Given the description of an element on the screen output the (x, y) to click on. 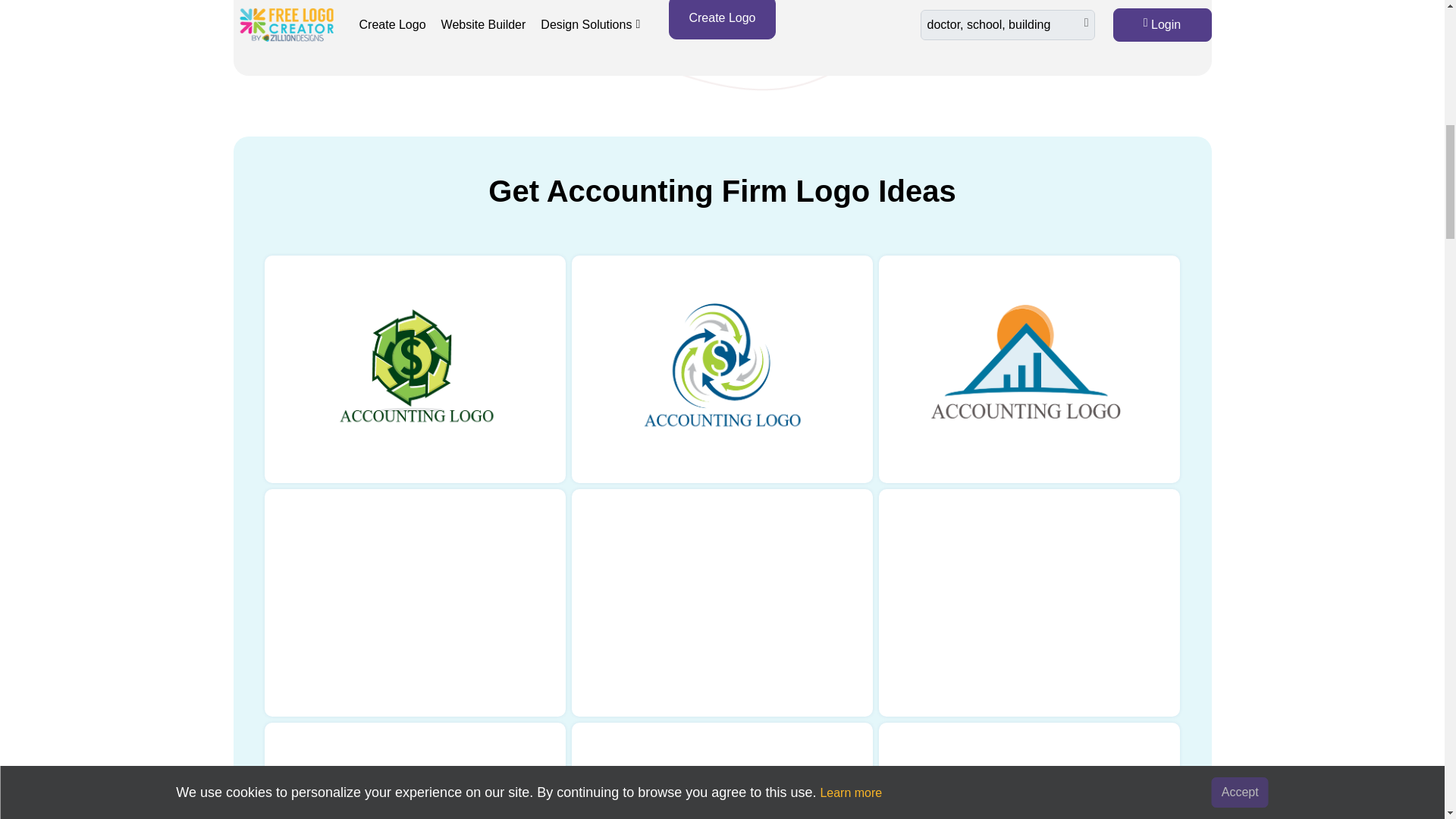
Create Logo (721, 20)
